Given the description of an element on the screen output the (x, y) to click on. 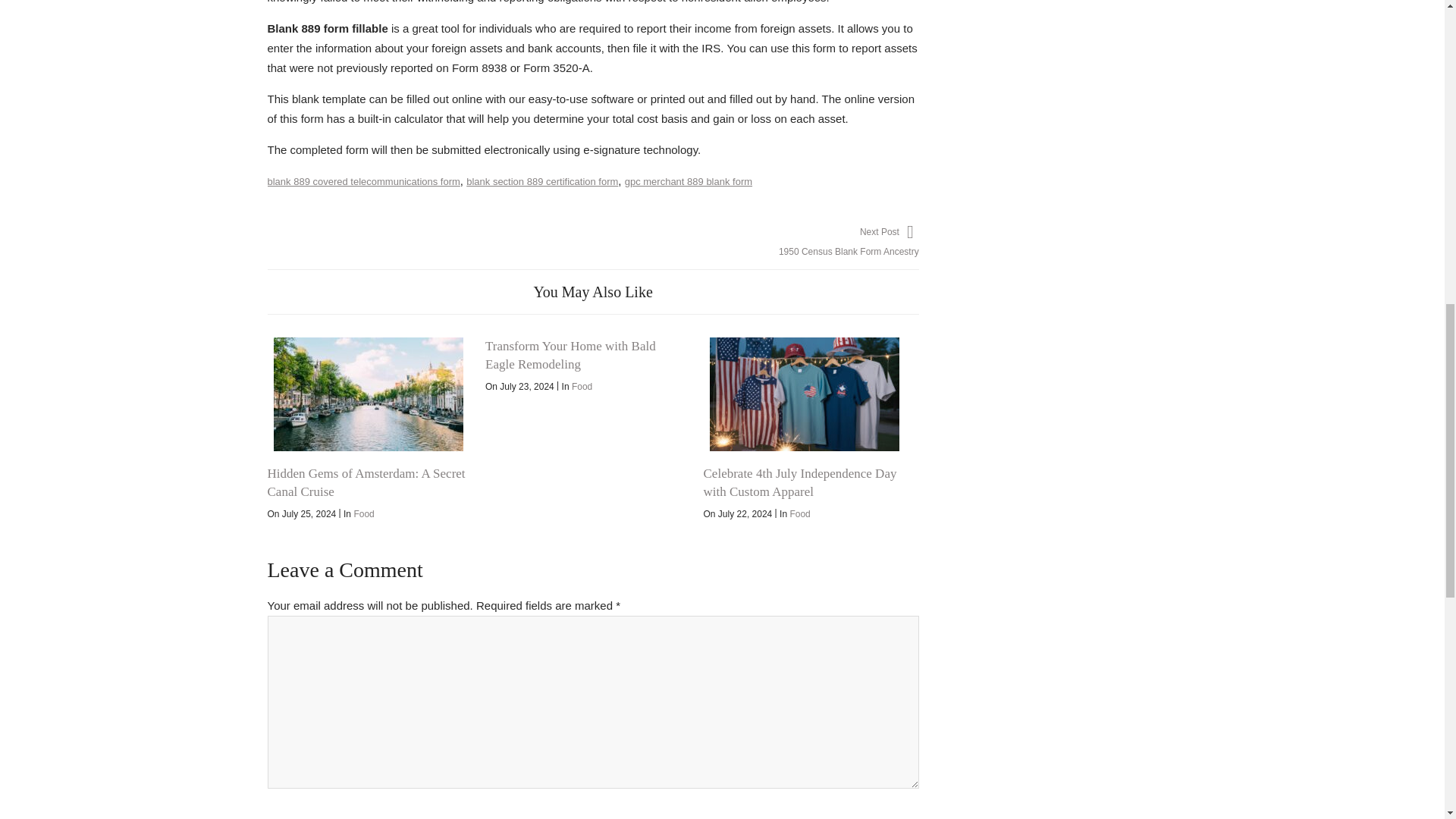
gpc merchant 889 blank form (688, 181)
blank 889 covered telecommunications form (363, 181)
Hidden Gems of Amsterdam: A Secret Canal Cruise (367, 394)
blank section 889 certification form (541, 181)
Food (363, 513)
Food (582, 386)
Celebrate 4th July Independence Day with Custom Apparel (804, 394)
Transform Your Home with Bald Eagle Remodeling (570, 355)
Celebrate 4th July Independence Day with Custom Apparel (799, 482)
